Given the description of an element on the screen output the (x, y) to click on. 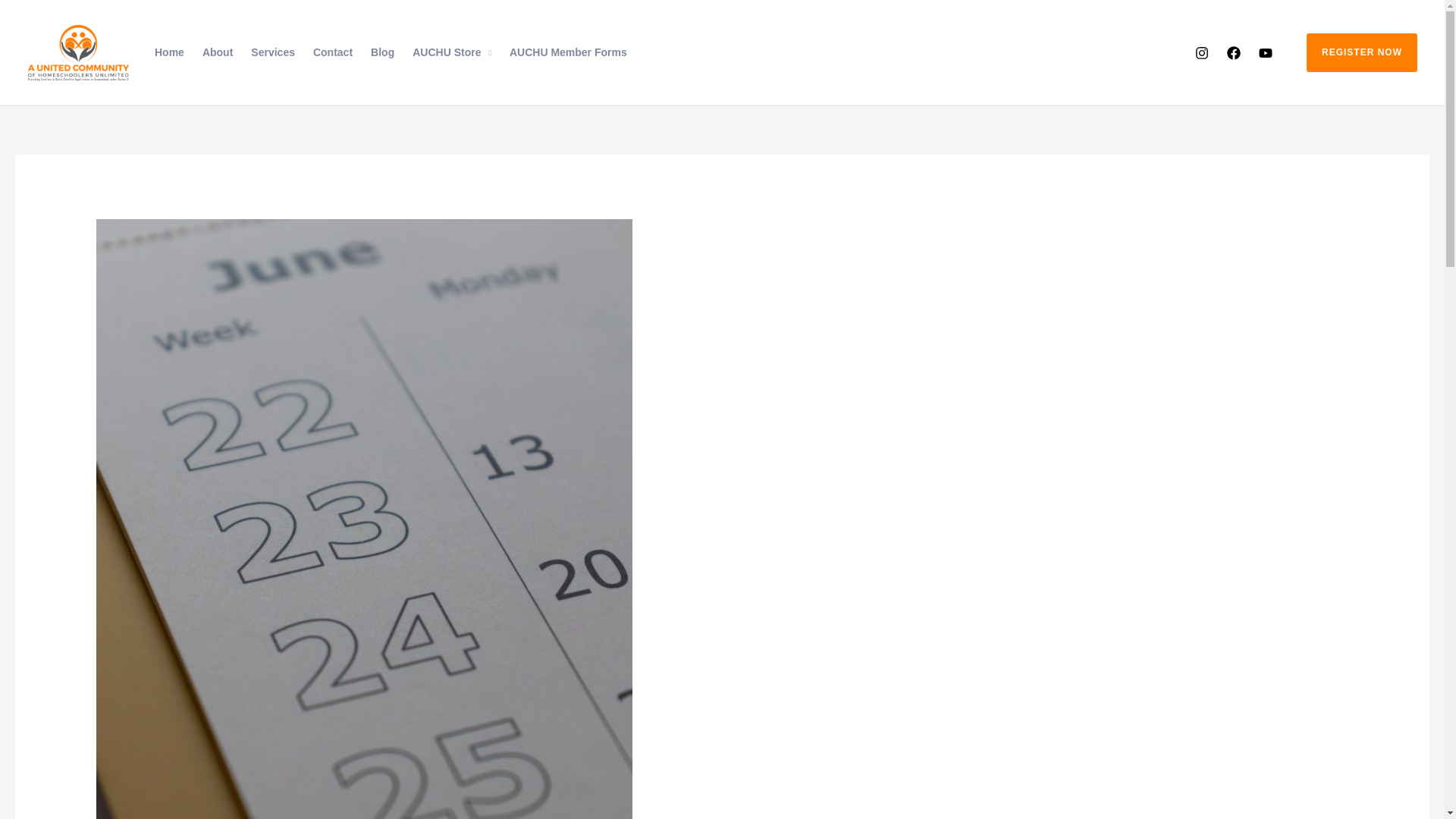
AUCHU Member Forms (568, 51)
AUCHU Store (451, 51)
Home (169, 51)
Services (272, 51)
REGISTER NOW (1352, 52)
About (217, 51)
Contact (332, 51)
